Given the description of an element on the screen output the (x, y) to click on. 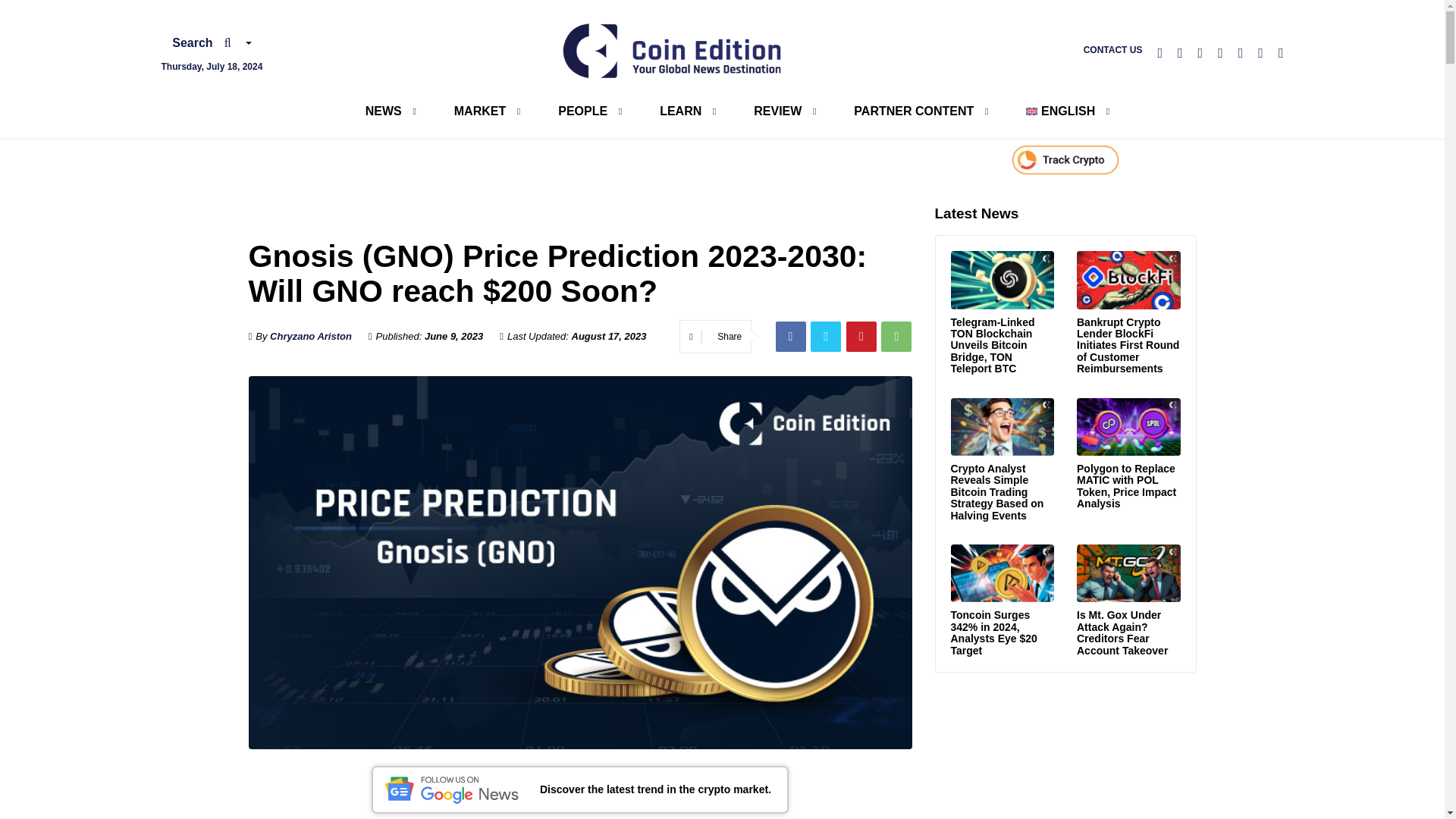
Instagram Threads (1220, 52)
Instagram (1201, 52)
Telegram (1179, 52)
Twitter (1159, 52)
YouTube (1281, 52)
Linkedin (1260, 52)
English (1060, 110)
Facebook (1241, 52)
Coin Edition (673, 50)
